Given the description of an element on the screen output the (x, y) to click on. 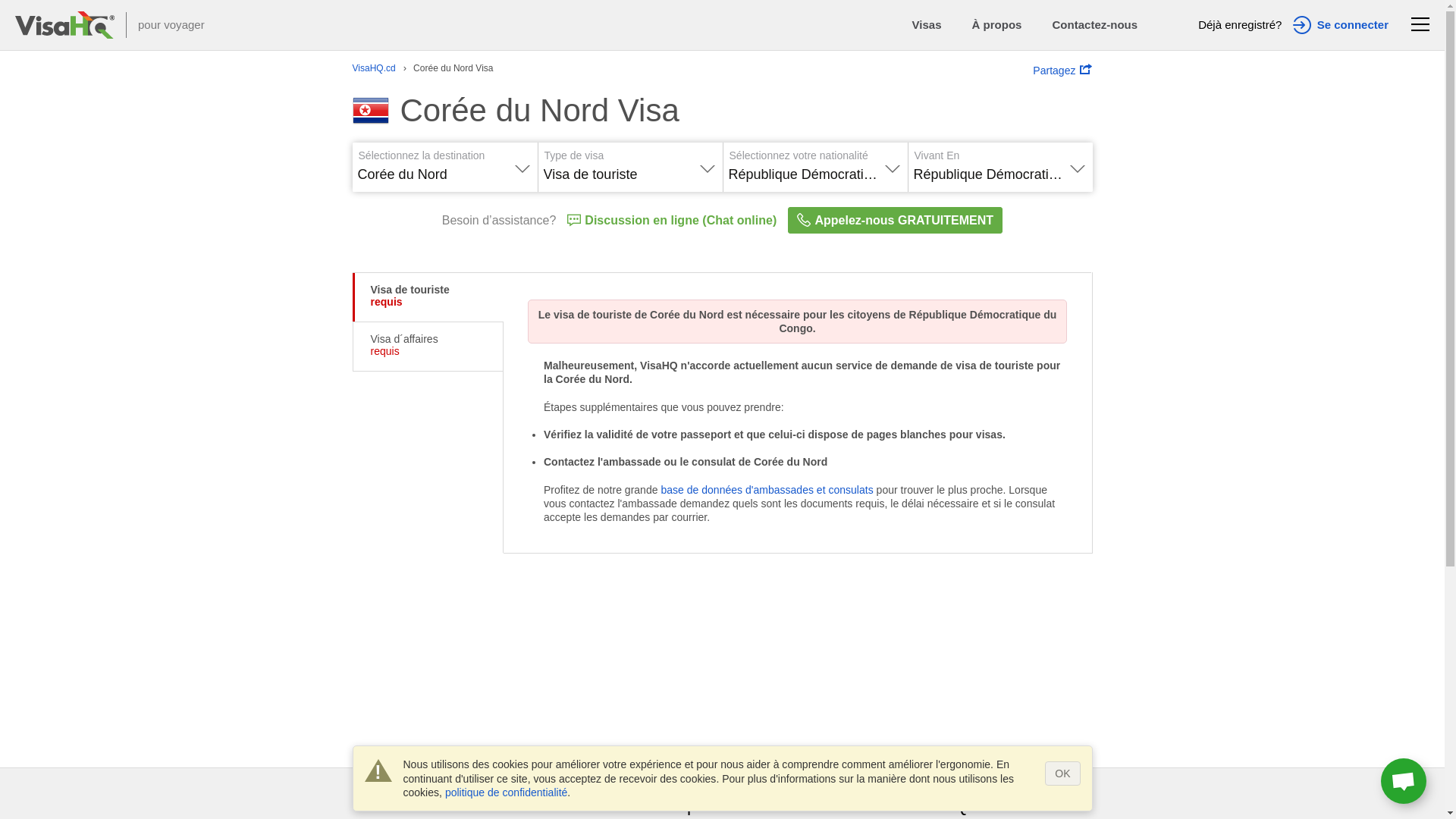
Visa de touriste Element type: text (409, 289)
VisaHQ.cd Element type: text (373, 68)
OK Element type: text (1061, 773)
Discussion en ligne (Chat online) Element type: text (671, 219)
Contactez-nous Element type: text (1094, 24)
Visas Element type: text (926, 24)
Visa de touriste Element type: text (629, 168)
Services de Visa Element type: hover (64, 24)
Se connecter Element type: text (1340, 24)
